Given the description of an element on the screen output the (x, y) to click on. 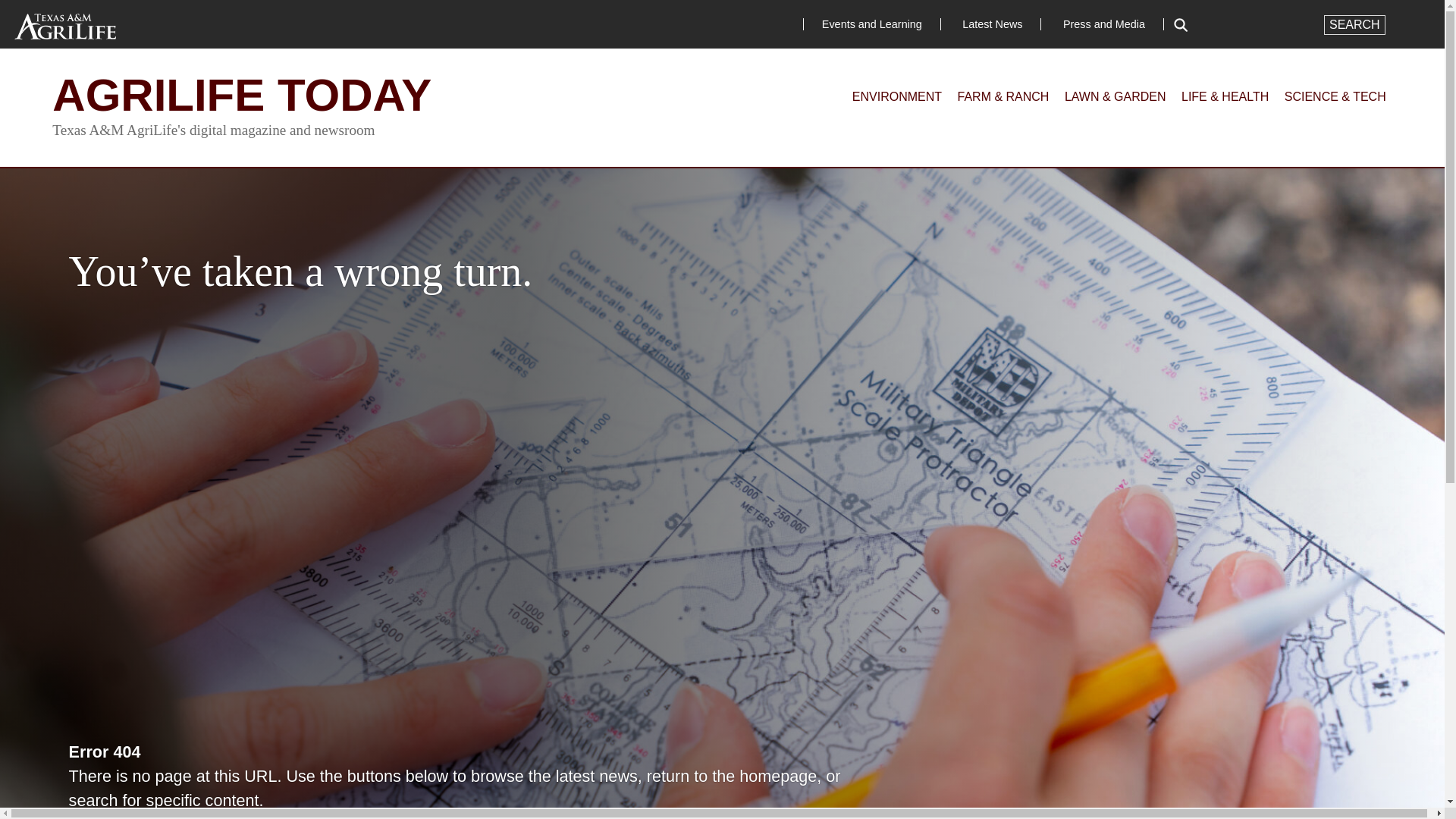
Search (1354, 25)
Search (1354, 25)
Press and Media (1104, 24)
Latest News (992, 24)
ENVIRONMENT (896, 96)
AGRILIFE TODAY (241, 94)
Search (1354, 25)
Events and Learning (871, 24)
